Given the description of an element on the screen output the (x, y) to click on. 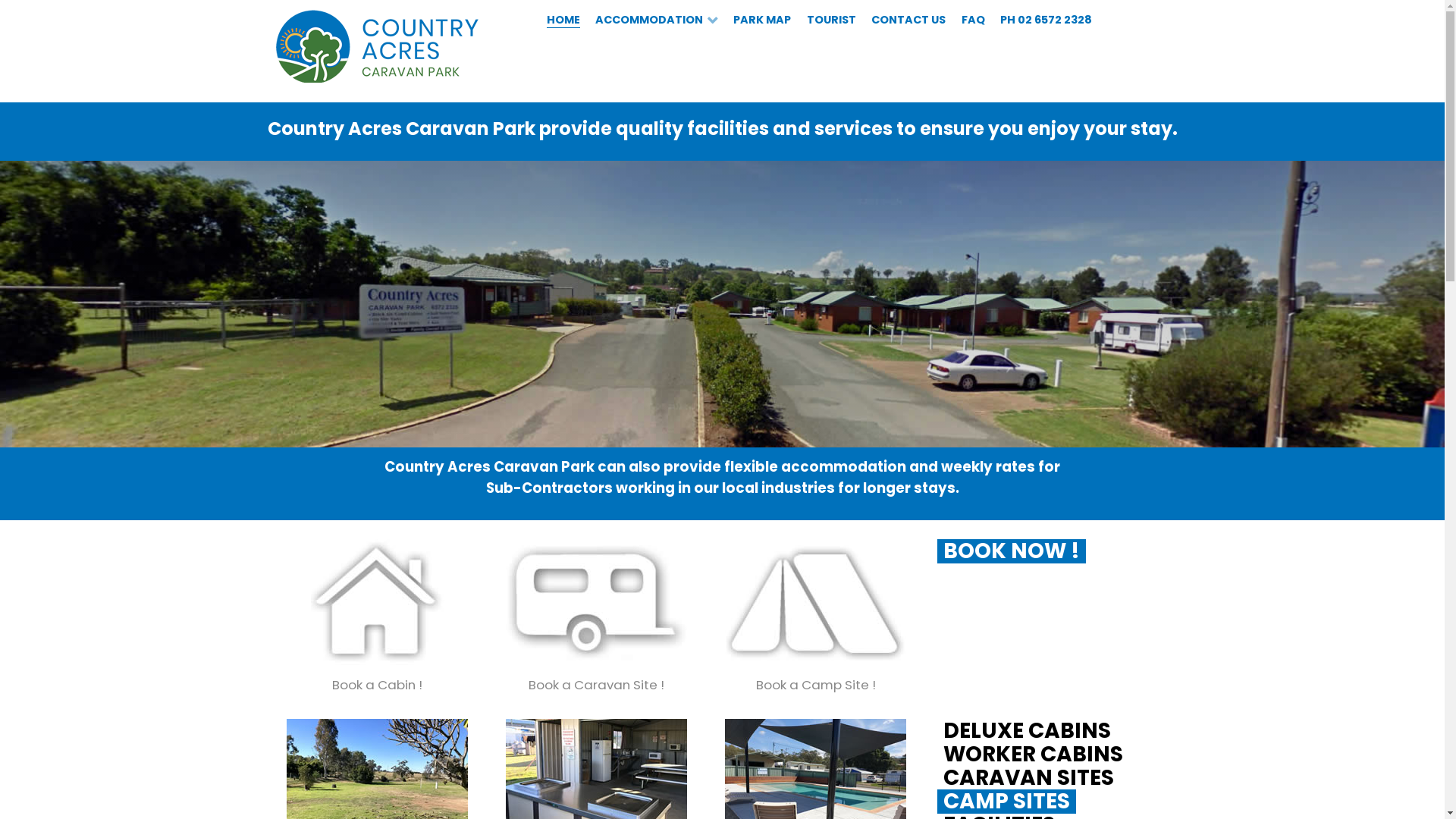
ACCOMMODATION Element type: text (656, 20)
TOURIST Element type: text (830, 20)
PARK MAP Element type: text (761, 20)
PH 02 6572 2328 Element type: text (1046, 20)
HOME Element type: text (562, 20)
FAQ Element type: text (972, 20)
CONTACT US Element type: text (908, 20)
